Given the description of an element on the screen output the (x, y) to click on. 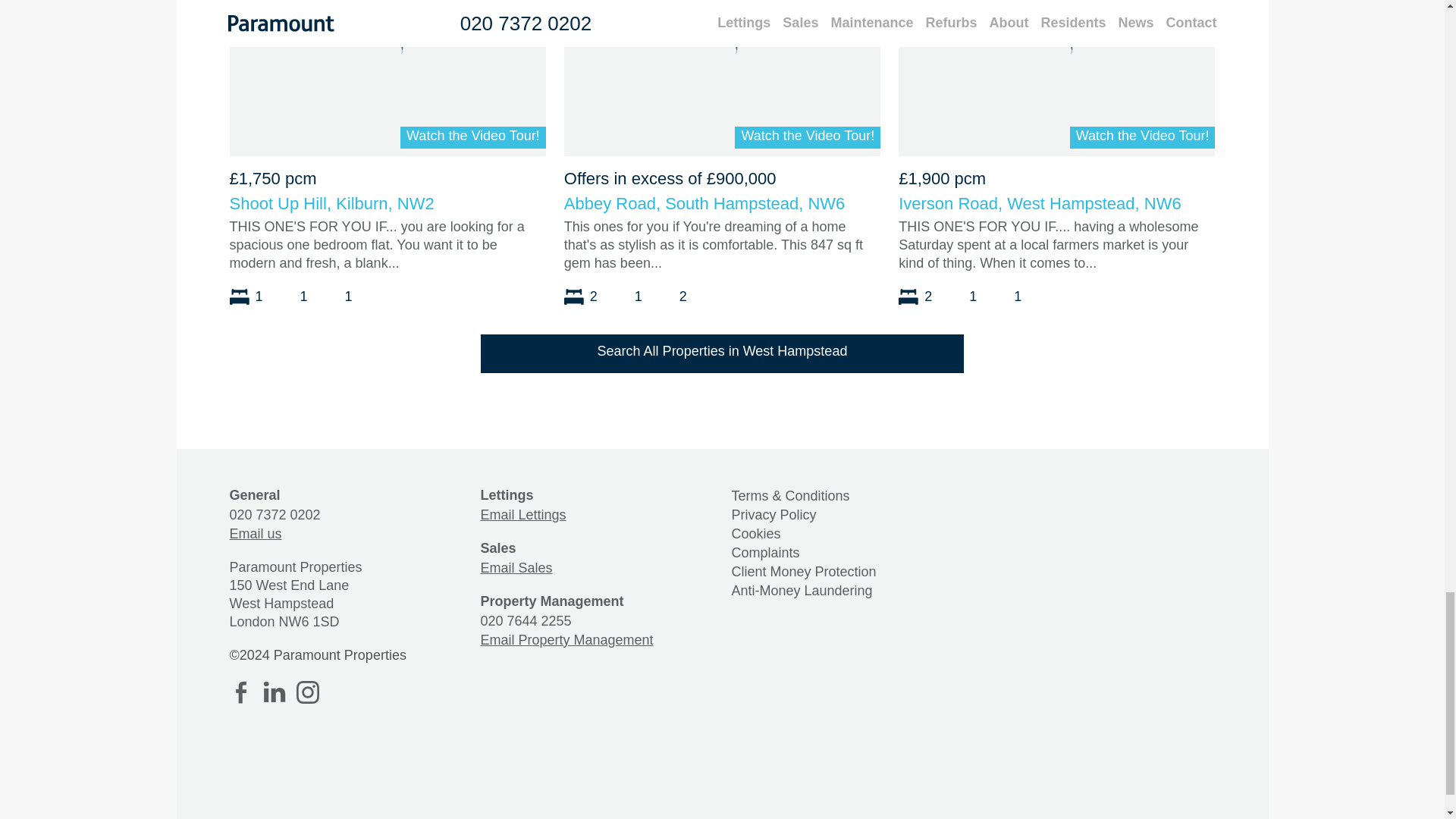
Bathrooms (675, 295)
Bathrooms (341, 295)
Reception Rooms (630, 295)
Reception Rooms (965, 295)
Bills Not Included (379, 295)
Bedrooms (250, 295)
Bathrooms (1010, 295)
Bedrooms (920, 295)
Reception Rooms (296, 295)
Bedrooms (586, 295)
